Given the description of an element on the screen output the (x, y) to click on. 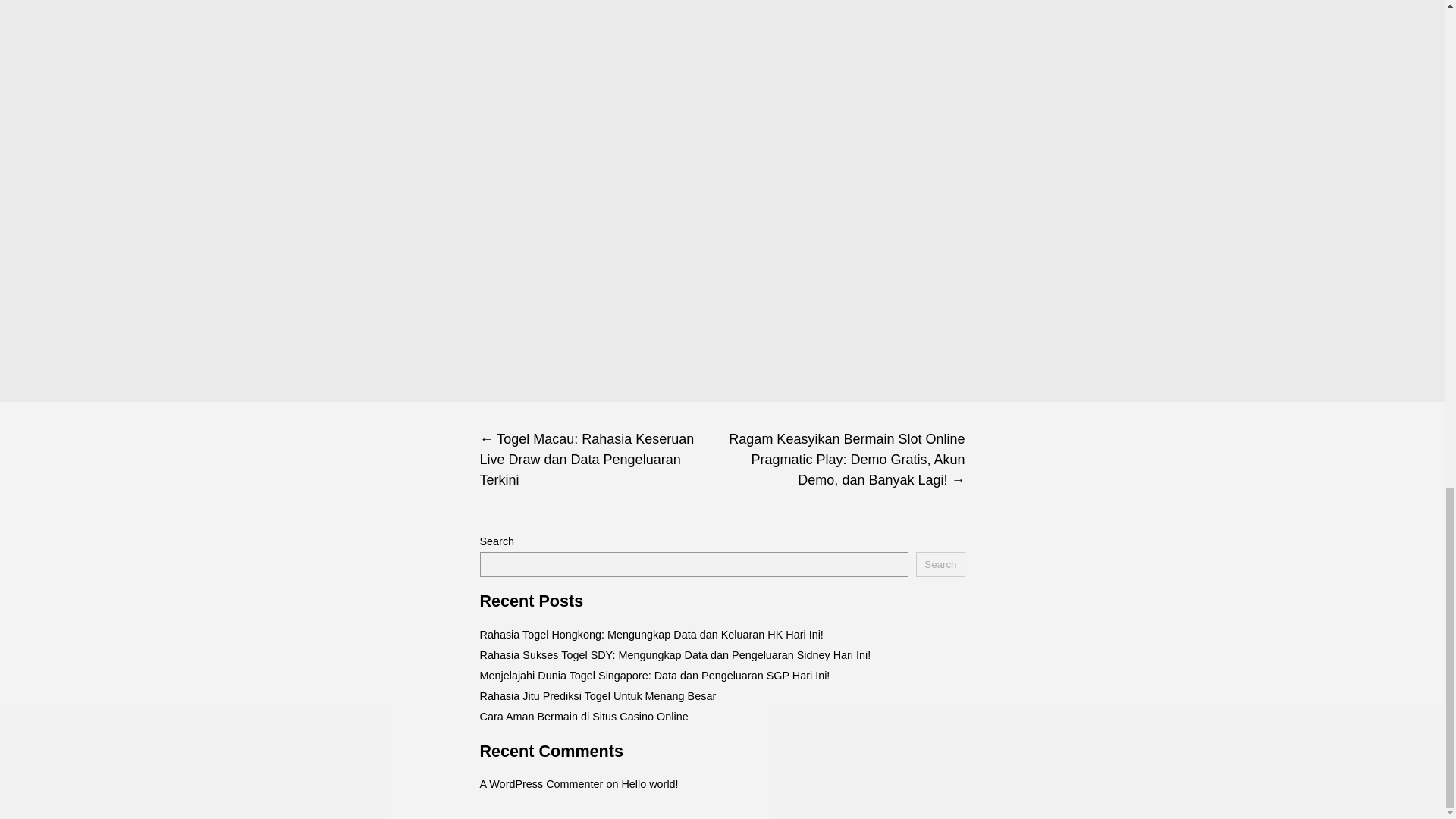
Search (939, 564)
Hello world! (649, 784)
Rahasia Jitu Prediksi Togel Untuk Menang Besar (597, 695)
Cara Aman Bermain di Situs Casino Online (583, 716)
A WordPress Commenter (540, 784)
